Given the description of an element on the screen output the (x, y) to click on. 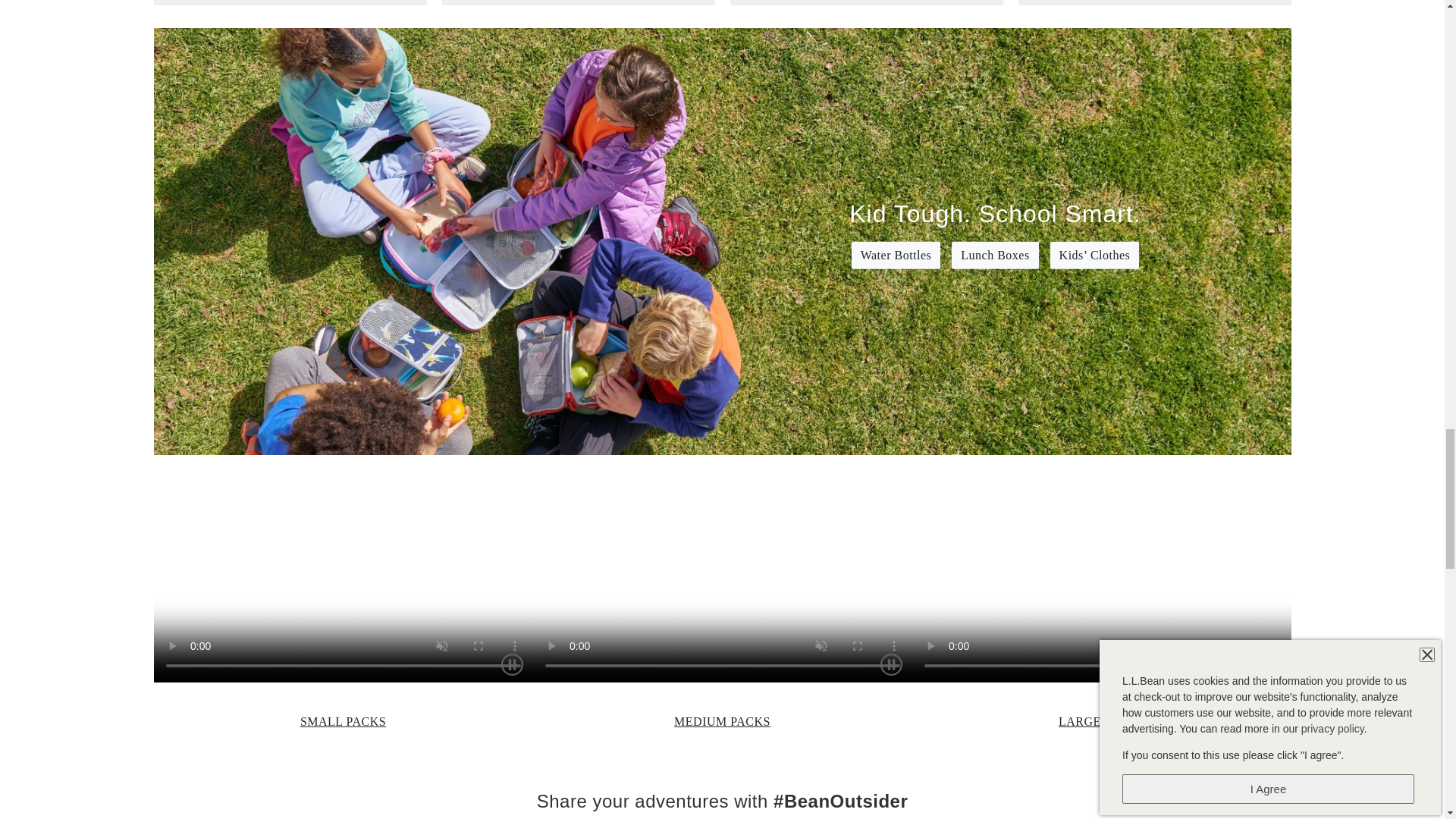
Pause Video (1270, 664)
Pause Video (512, 664)
Pause Video (890, 664)
